Given the description of an element on the screen output the (x, y) to click on. 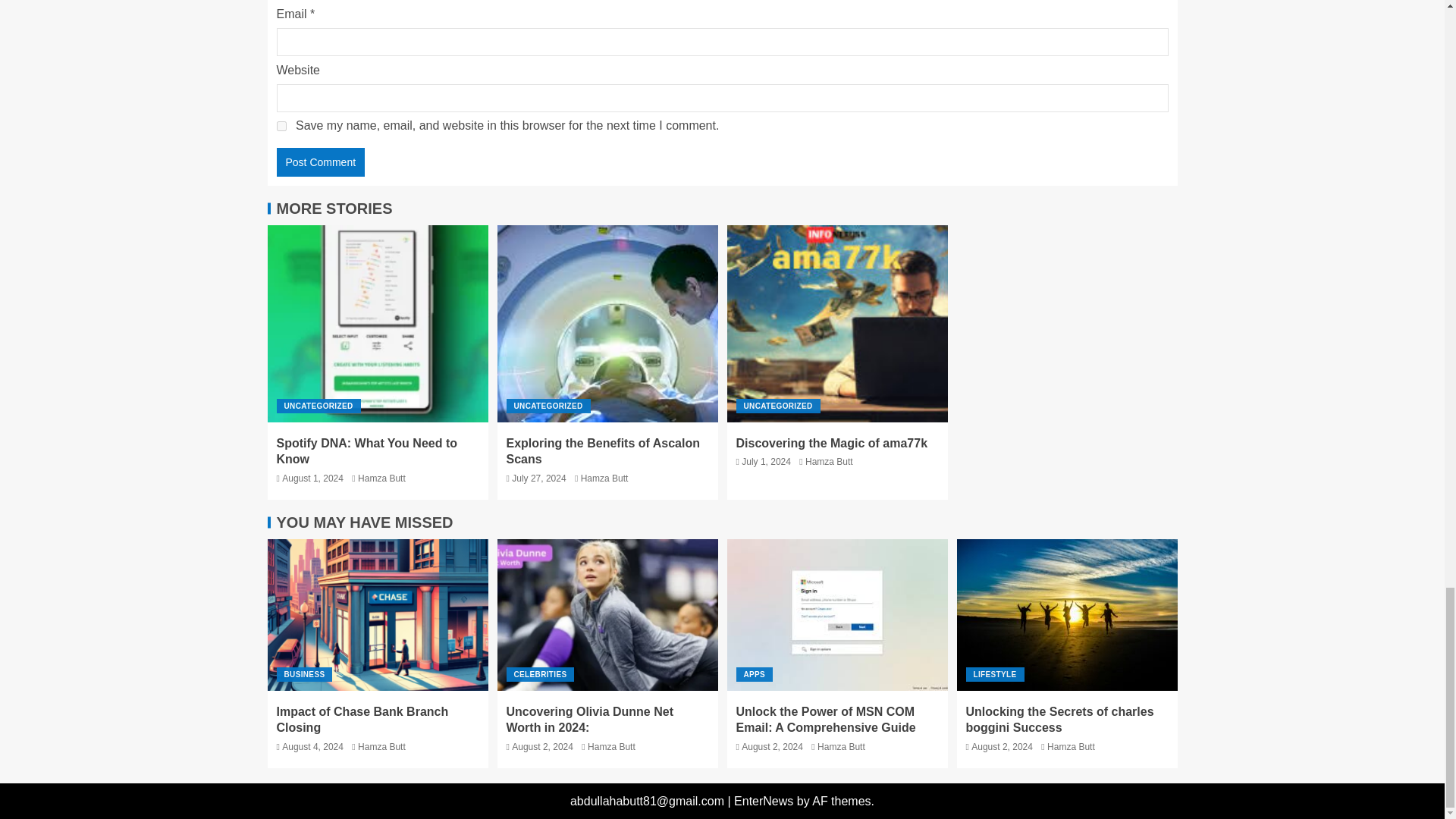
UNCATEGORIZED (548, 405)
Hamza Butt (382, 478)
Post Comment (320, 162)
Post Comment (320, 162)
Spotify DNA: What You Need to Know (366, 451)
UNCATEGORIZED (317, 405)
yes (280, 126)
